Given the description of an element on the screen output the (x, y) to click on. 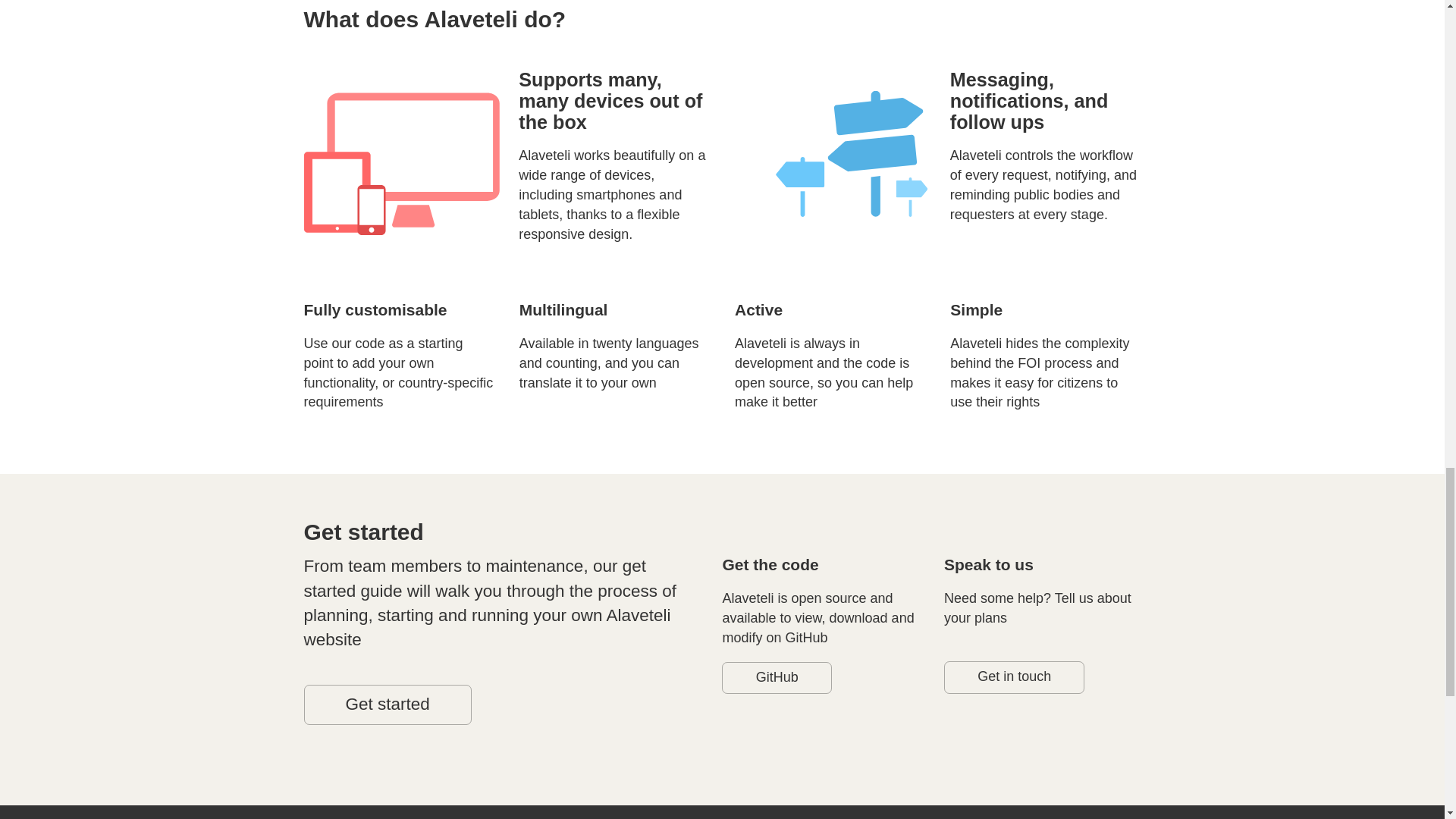
Get in touch (1013, 676)
GitHub (776, 677)
Get started (386, 703)
